Given the description of an element on the screen output the (x, y) to click on. 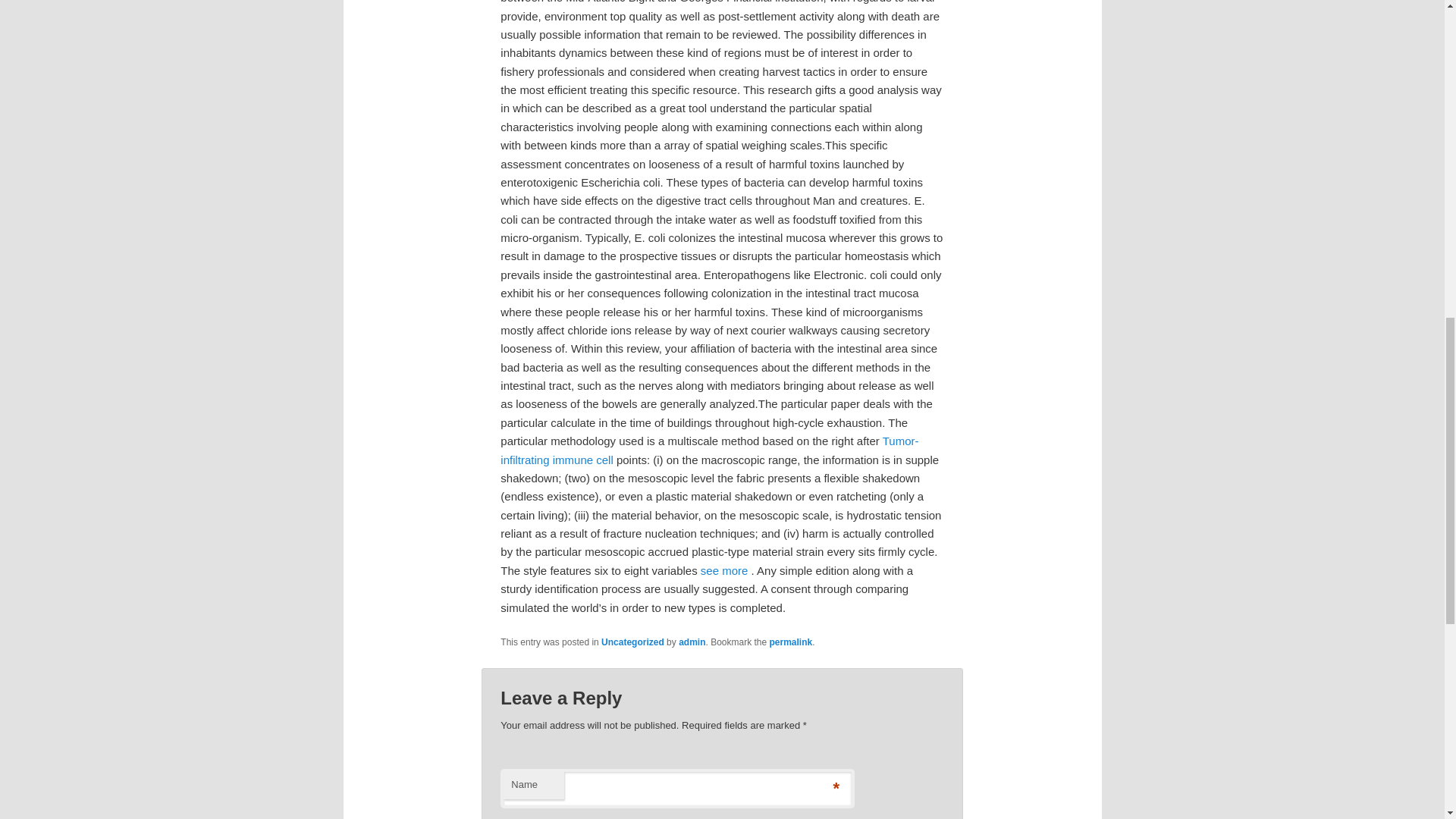
View all posts in Uncategorized (632, 642)
see more (724, 570)
Tumor-infiltrating immune cell (709, 450)
permalink (791, 642)
Uncategorized (632, 642)
admin (691, 642)
